Given the description of an element on the screen output the (x, y) to click on. 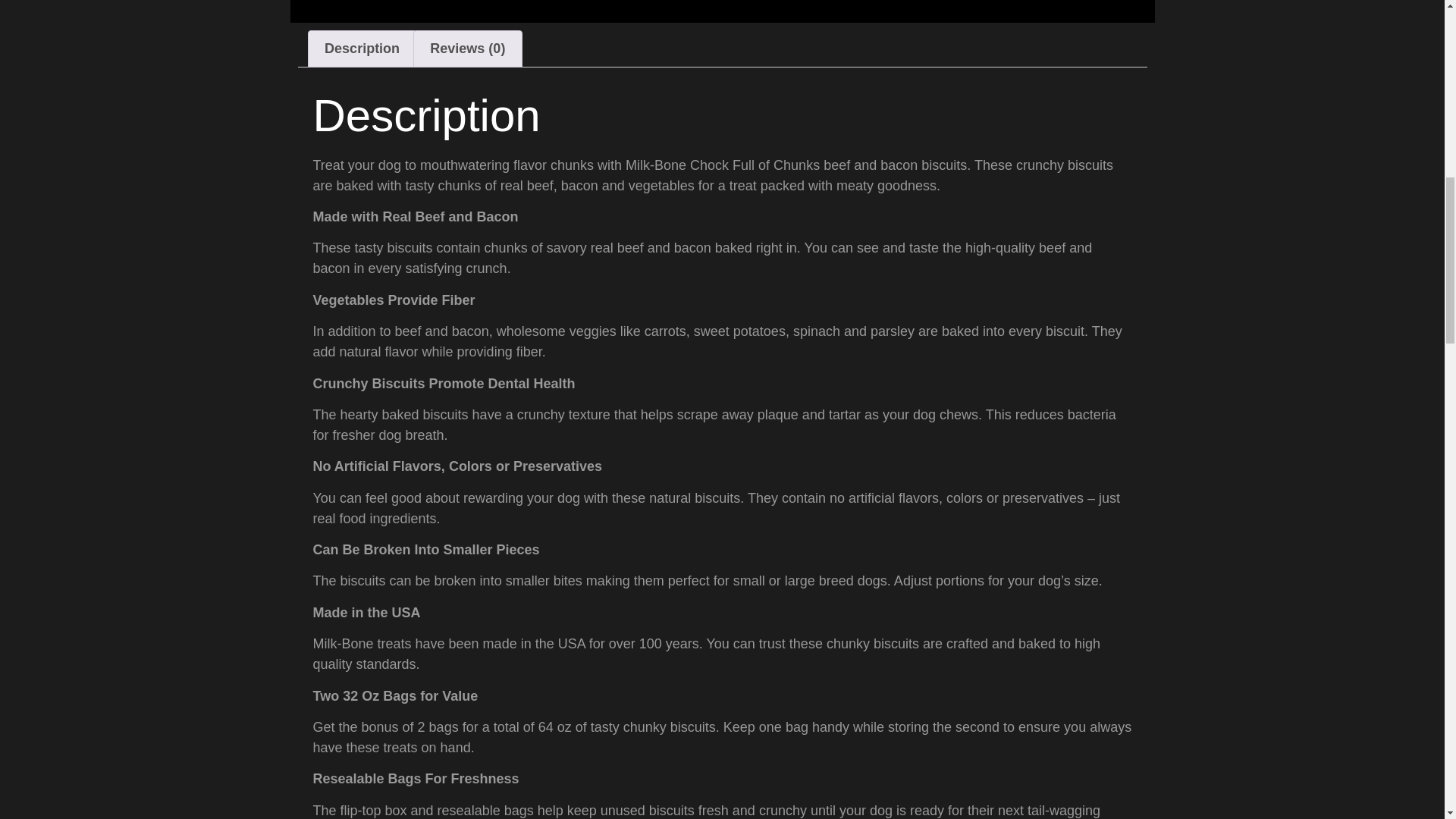
Description (360, 48)
